Given the description of an element on the screen output the (x, y) to click on. 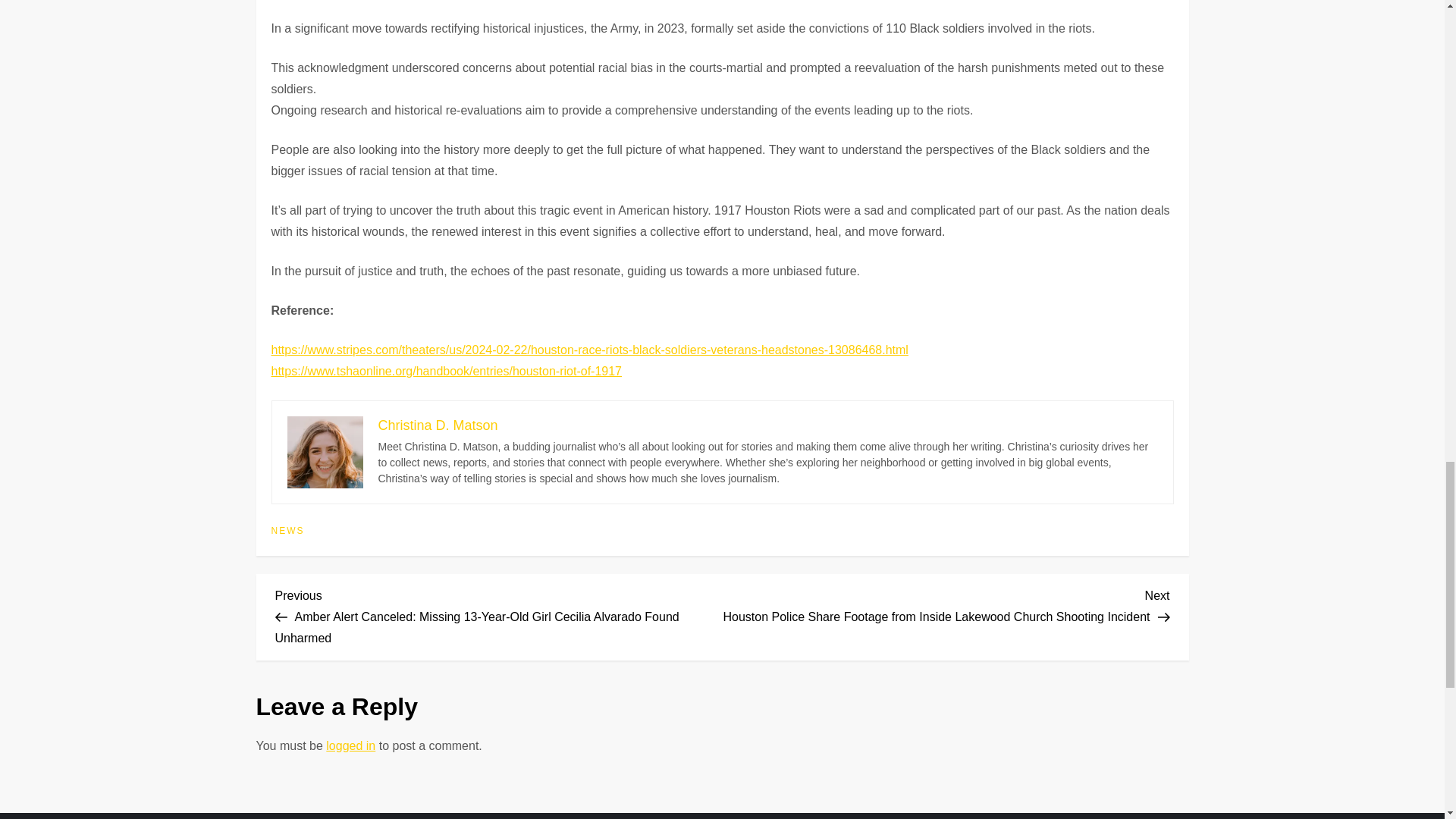
NEWS (287, 530)
Christina D. Matson (437, 425)
logged in (350, 745)
